Given the description of an element on the screen output the (x, y) to click on. 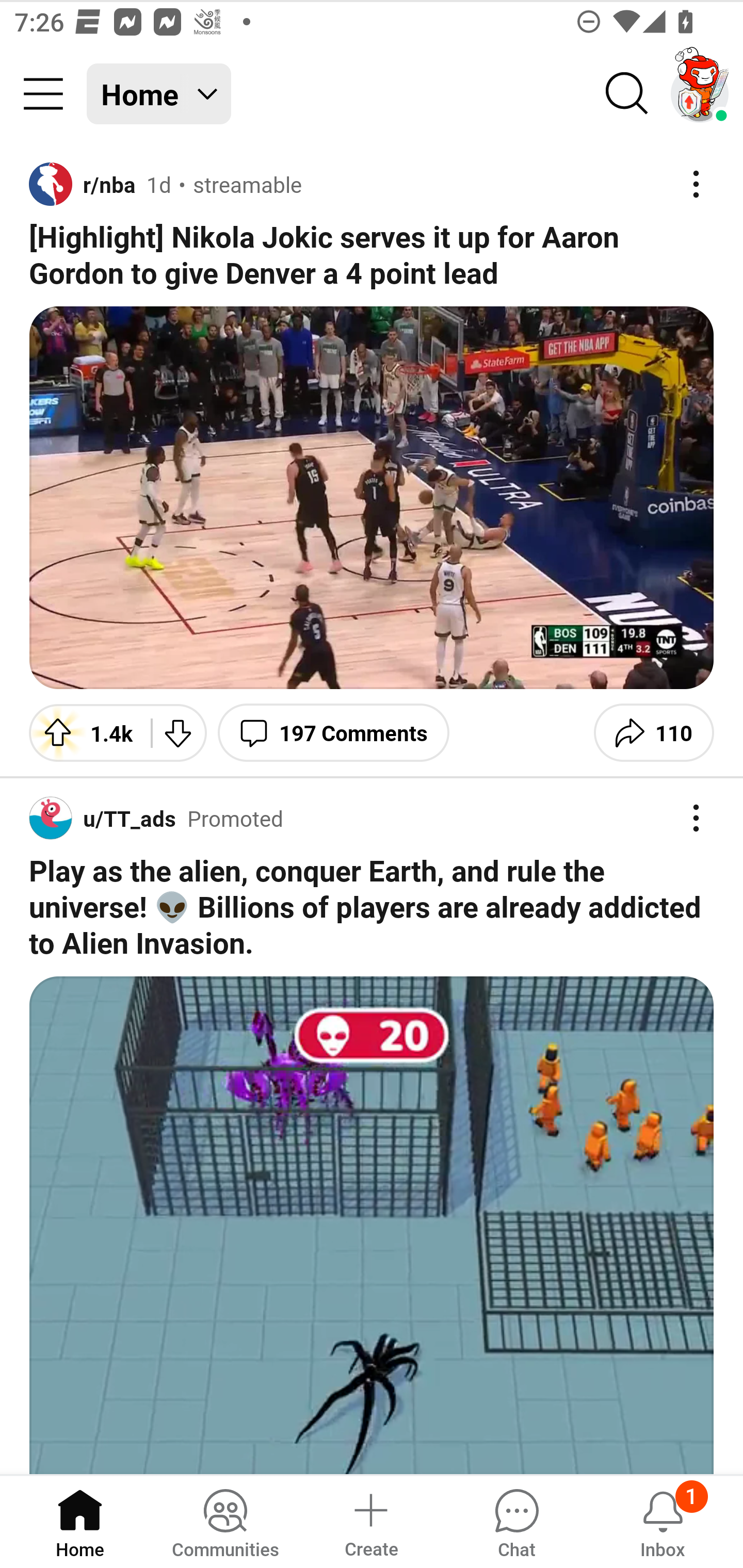
Community menu (43, 93)
Home Home feed (158, 93)
Search (626, 93)
TestAppium002 account (699, 93)
Home (80, 1520)
Communities (225, 1520)
Create a post Create (370, 1520)
Chat (516, 1520)
Inbox, has 1 notification 1 Inbox (662, 1520)
